Given the description of an element on the screen output the (x, y) to click on. 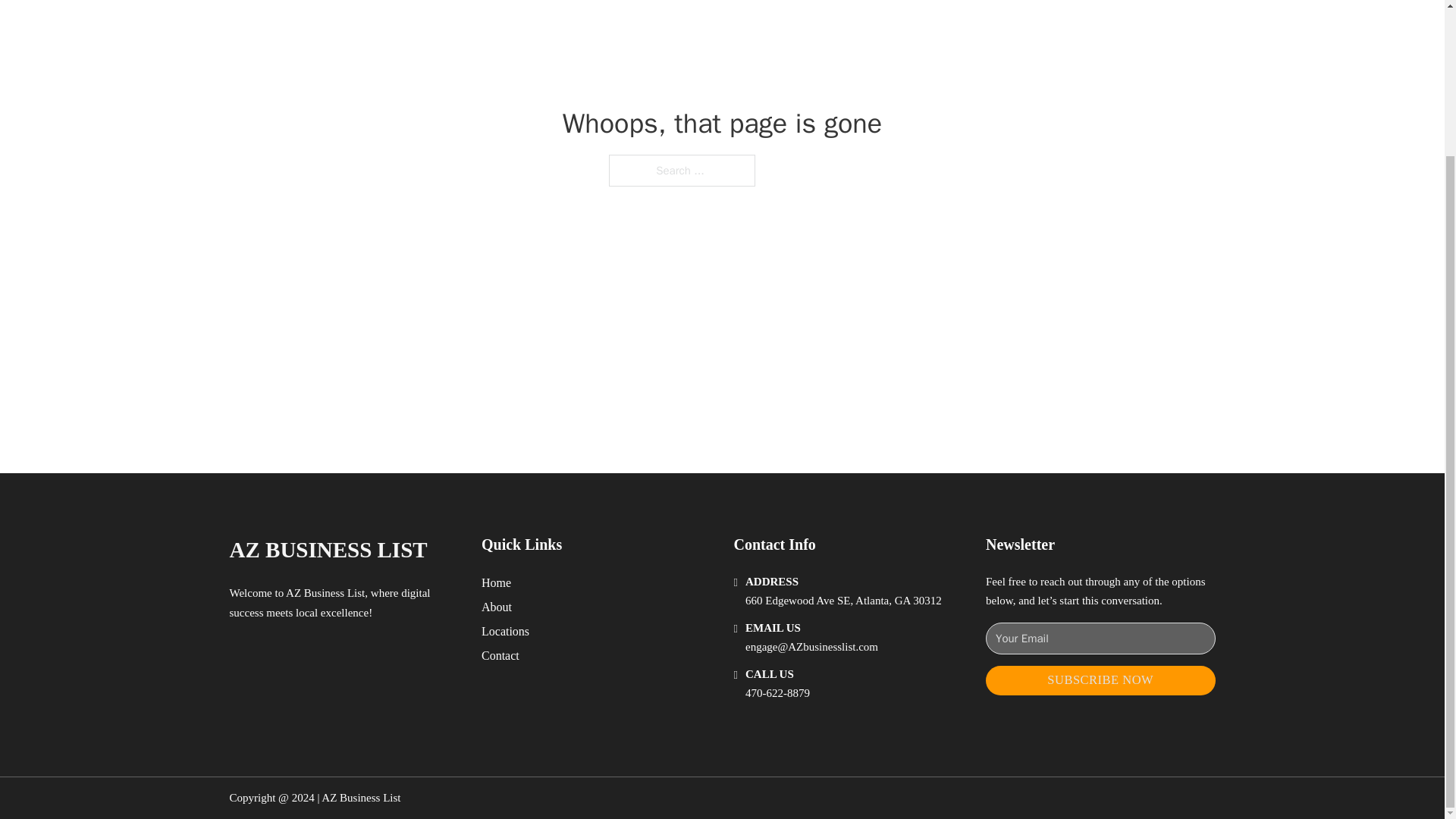
Contact (500, 655)
Locations (505, 630)
Home (496, 582)
AZ BUSINESS LIST (327, 549)
About (496, 607)
470-622-8879 (777, 693)
SUBSCRIBE NOW (1100, 680)
